Given the description of an element on the screen output the (x, y) to click on. 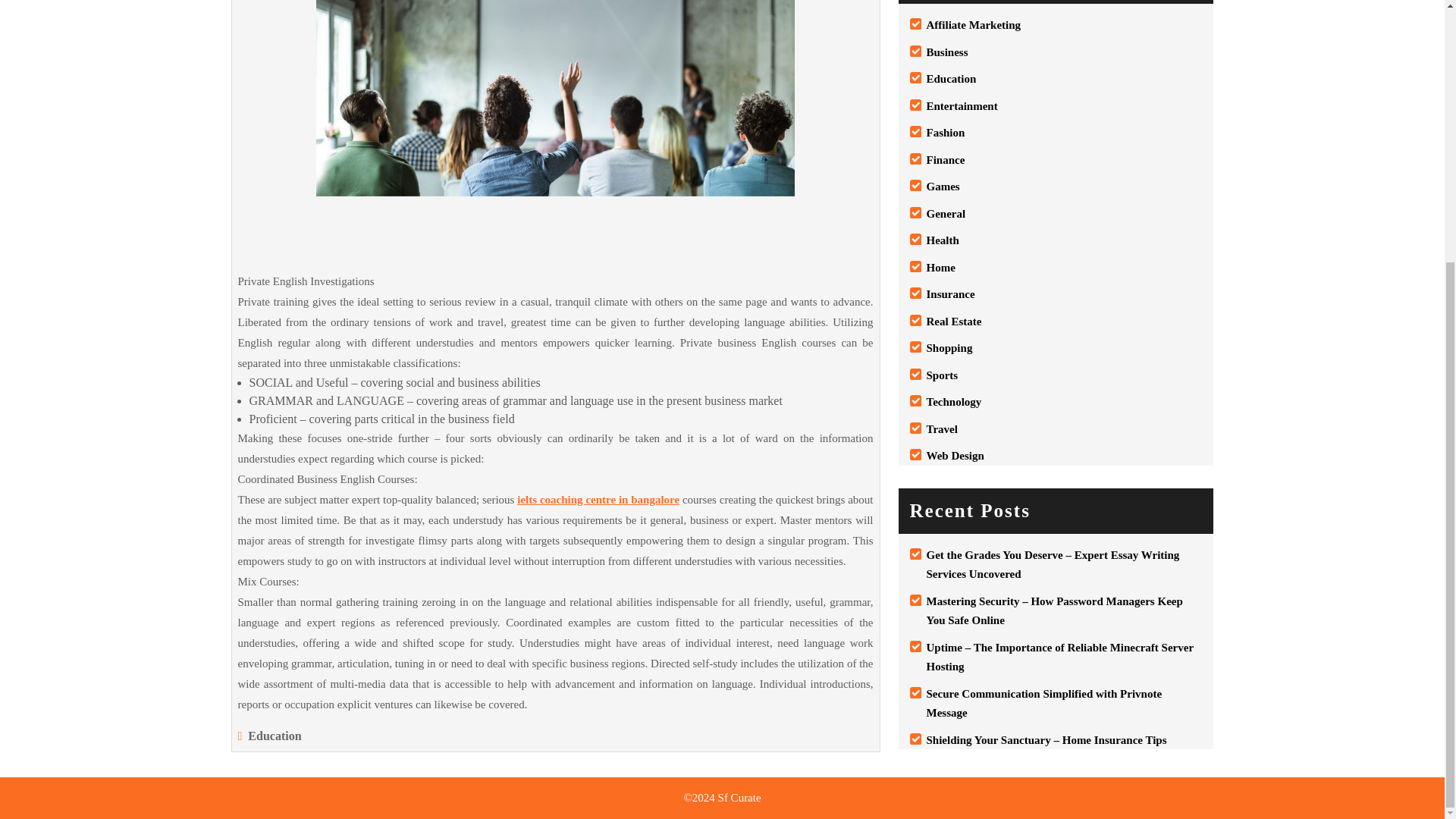
Secure Communication Simplified with Privnote Message (1043, 703)
Technology (953, 401)
Travel (942, 428)
Finance (945, 159)
Affiliate Marketing (974, 24)
Entertainment (961, 105)
Health (942, 240)
Shopping (949, 347)
Insurance (950, 294)
General (946, 214)
